Given the description of an element on the screen output the (x, y) to click on. 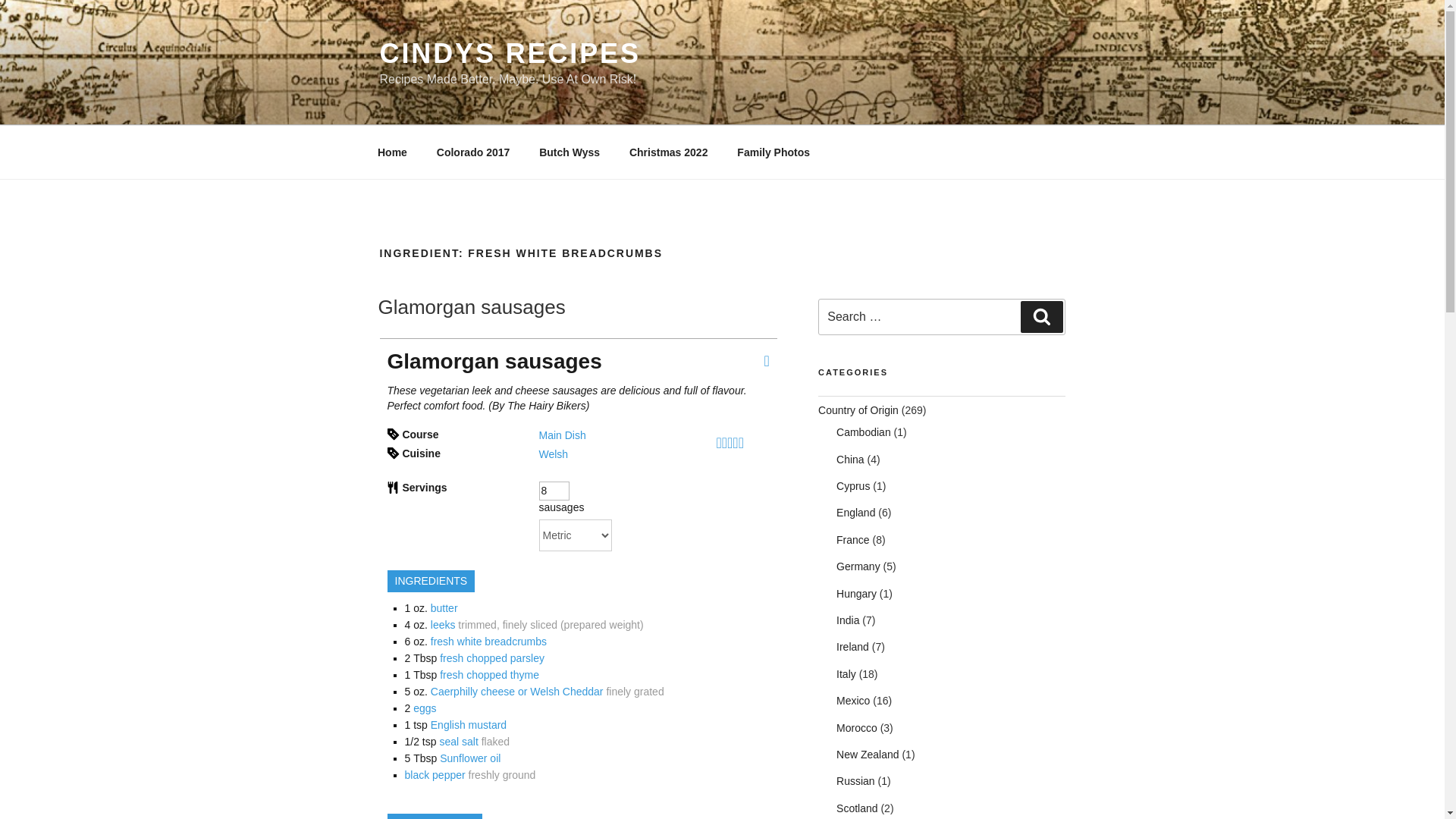
butter (444, 607)
Origin of Recipe (858, 410)
CINDYS RECIPES (509, 52)
8 (553, 491)
Welsh (552, 453)
Sunflower oil (469, 758)
eggs (424, 707)
English mustard (468, 725)
Home (392, 151)
Family Photos (773, 151)
